Given the description of an element on the screen output the (x, y) to click on. 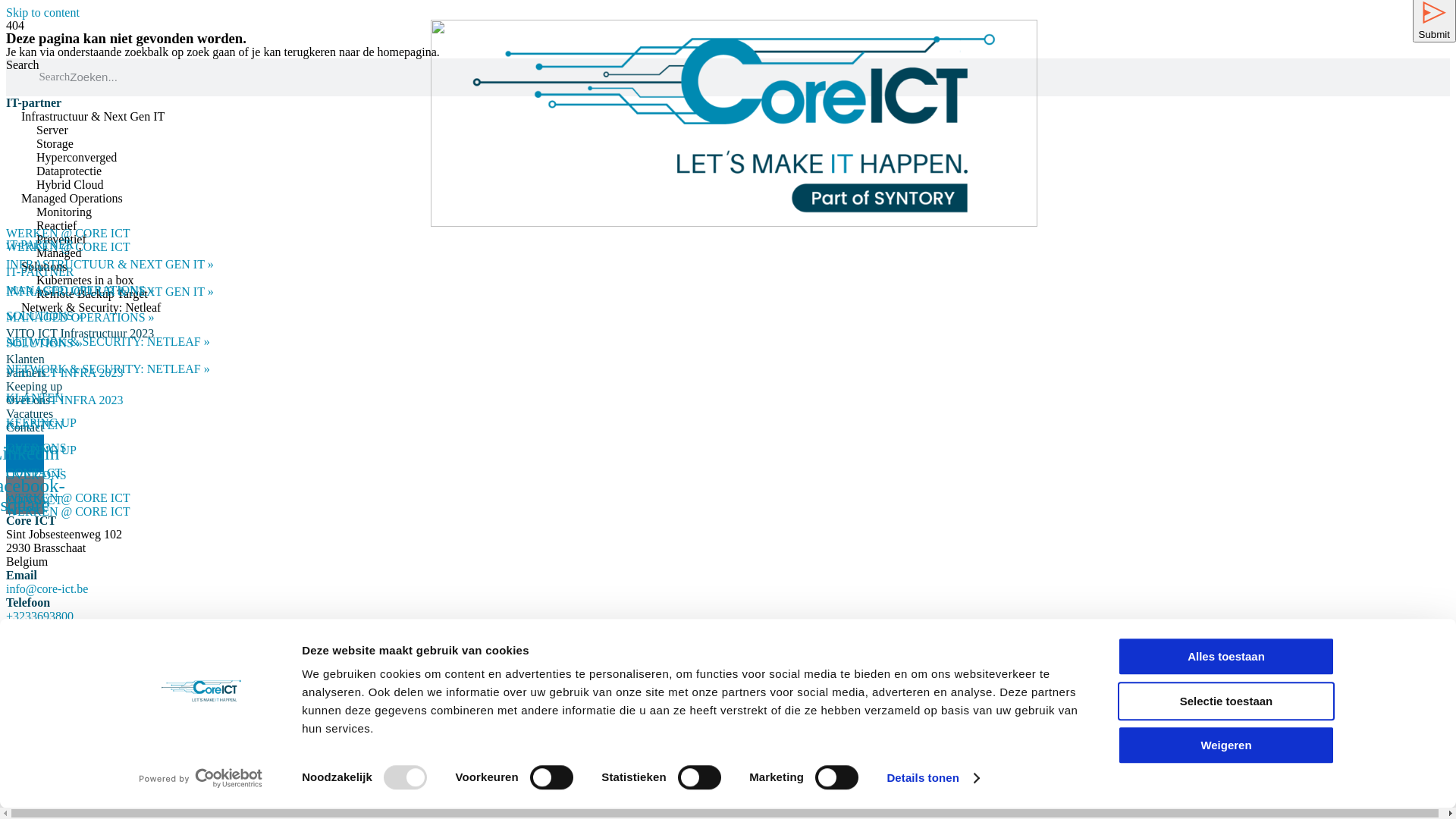
Storage Element type: text (54, 143)
Reactief Element type: text (56, 225)
Managed Element type: text (58, 252)
Preventief Element type: text (61, 238)
Monitoring Element type: text (63, 211)
Vacatures Element type: text (29, 413)
Cookie Policy Element type: text (40, 686)
Keeping up Element type: text (34, 385)
Remote Backup Target Element type: text (91, 293)
Contact Element type: text (24, 426)
Facebook-square Element type: text (24, 495)
Infrastructuur & Next Gen IT Element type: text (92, 115)
Dataprotectie Element type: text (68, 170)
KLANTEN Element type: text (34, 397)
CONTACT Element type: text (34, 499)
Solutions Element type: text (43, 266)
Skip to content Element type: text (42, 12)
info@core-ict.be Element type: text (46, 588)
Weigeren Element type: text (1225, 744)
KLANTEN Element type: text (34, 424)
OVER ONS Element type: text (36, 474)
Managed Operations Element type: text (71, 197)
Linkedin Element type: text (24, 453)
Over ons Element type: text (28, 399)
Selectie toestaan Element type: text (1225, 700)
Alles toestaan Element type: text (1225, 656)
Netwerk & Security: Netleaf Element type: text (90, 307)
OVER ONS Element type: text (36, 447)
Details tonen Element type: text (932, 777)
VITO ICT INFRA 2023 Element type: text (64, 399)
Server Element type: text (52, 129)
Klanten Element type: text (25, 358)
Kubernetes in a box Element type: text (84, 279)
Hyperconverged Element type: text (76, 156)
+3233693800 Element type: text (39, 615)
KEEPING UP Element type: text (41, 449)
Hybrid Cloud Element type: text (69, 184)
Partners Element type: text (25, 372)
VITO ICT Infrastructuur 2023 Element type: text (79, 332)
KEEPING UP Element type: text (41, 422)
VITO ICT INFRA 2023 Element type: text (64, 372)
CONTACT Element type: text (34, 472)
Privacy Policy Element type: text (118, 686)
